Given the description of an element on the screen output the (x, y) to click on. 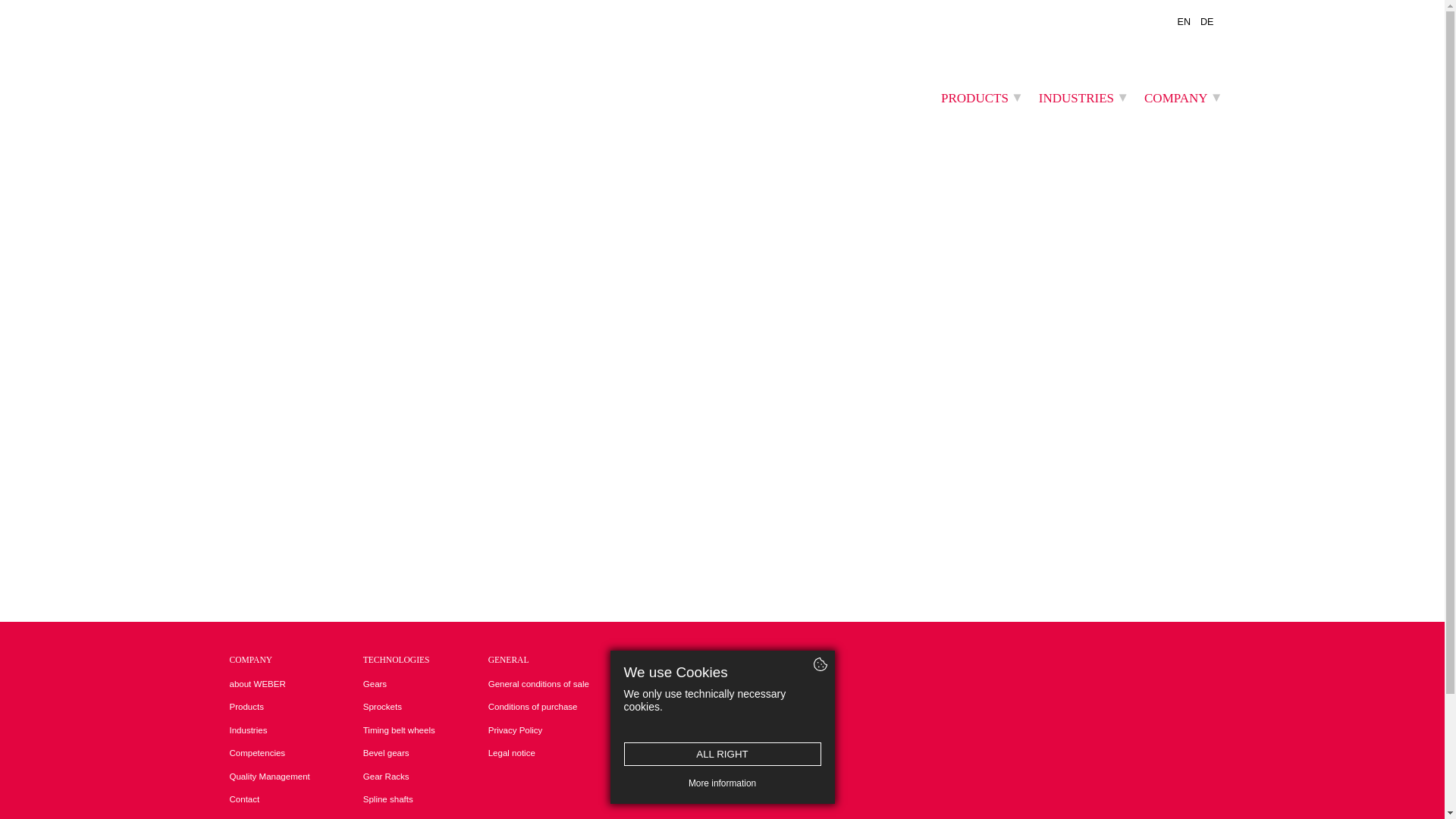
Conditions of purchase (538, 707)
Privacy Policy (538, 731)
WEBER Verzahnungstechnik (304, 60)
Industries (269, 731)
DE (1206, 22)
Spline shafts (398, 800)
ALL RIGHT (722, 753)
General conditions of sale (538, 685)
Products (269, 707)
Legal notice (538, 753)
